Given the description of an element on the screen output the (x, y) to click on. 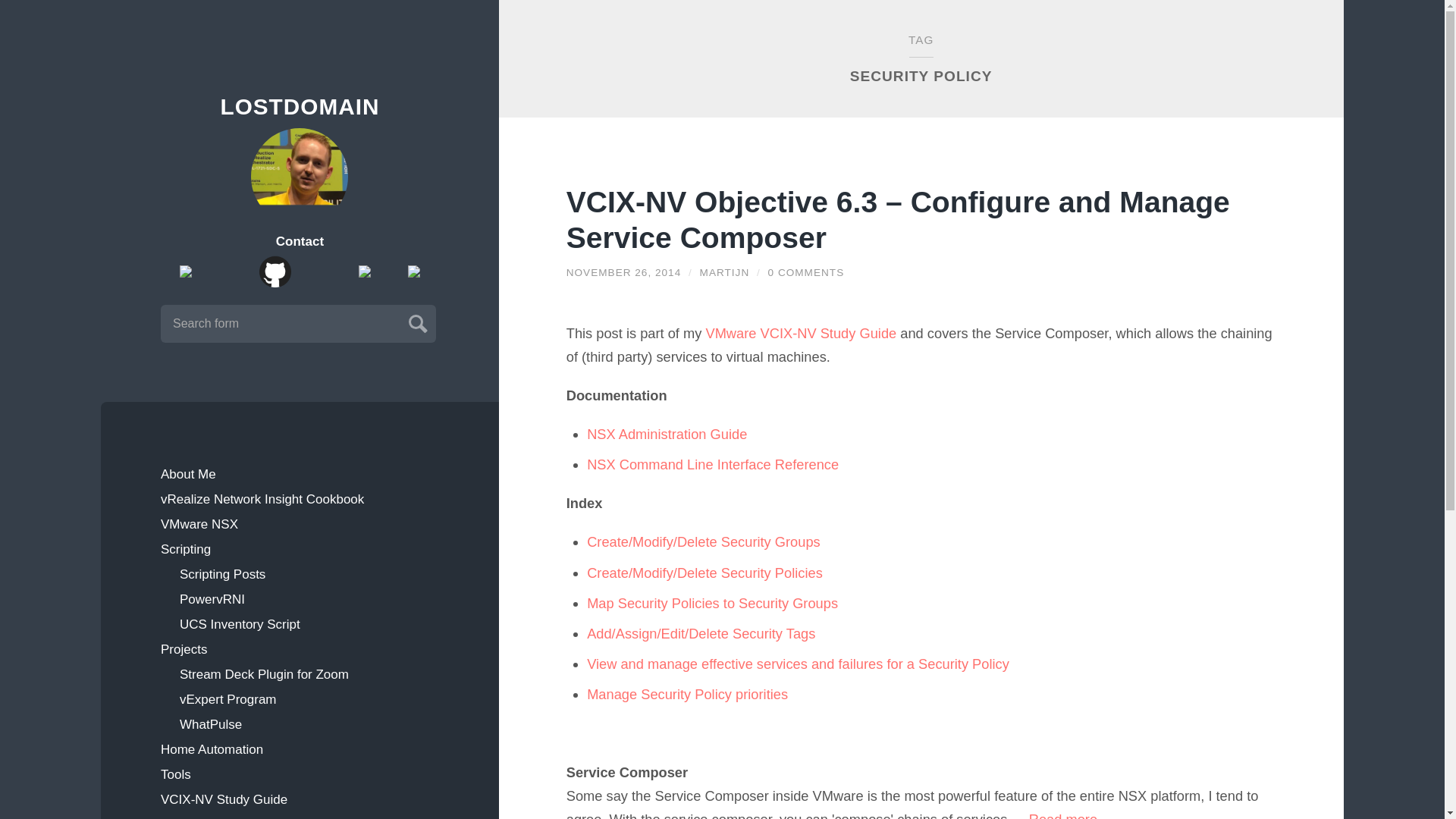
Home Automation (299, 749)
Scripting (299, 549)
Search (416, 321)
VCIX-NV Study Guide (800, 333)
Stream Deck Plugin for Zoom (309, 674)
About Me (299, 473)
Submit (416, 321)
Tools (299, 774)
vExpert Program (309, 699)
Projects (299, 649)
